Given the description of an element on the screen output the (x, y) to click on. 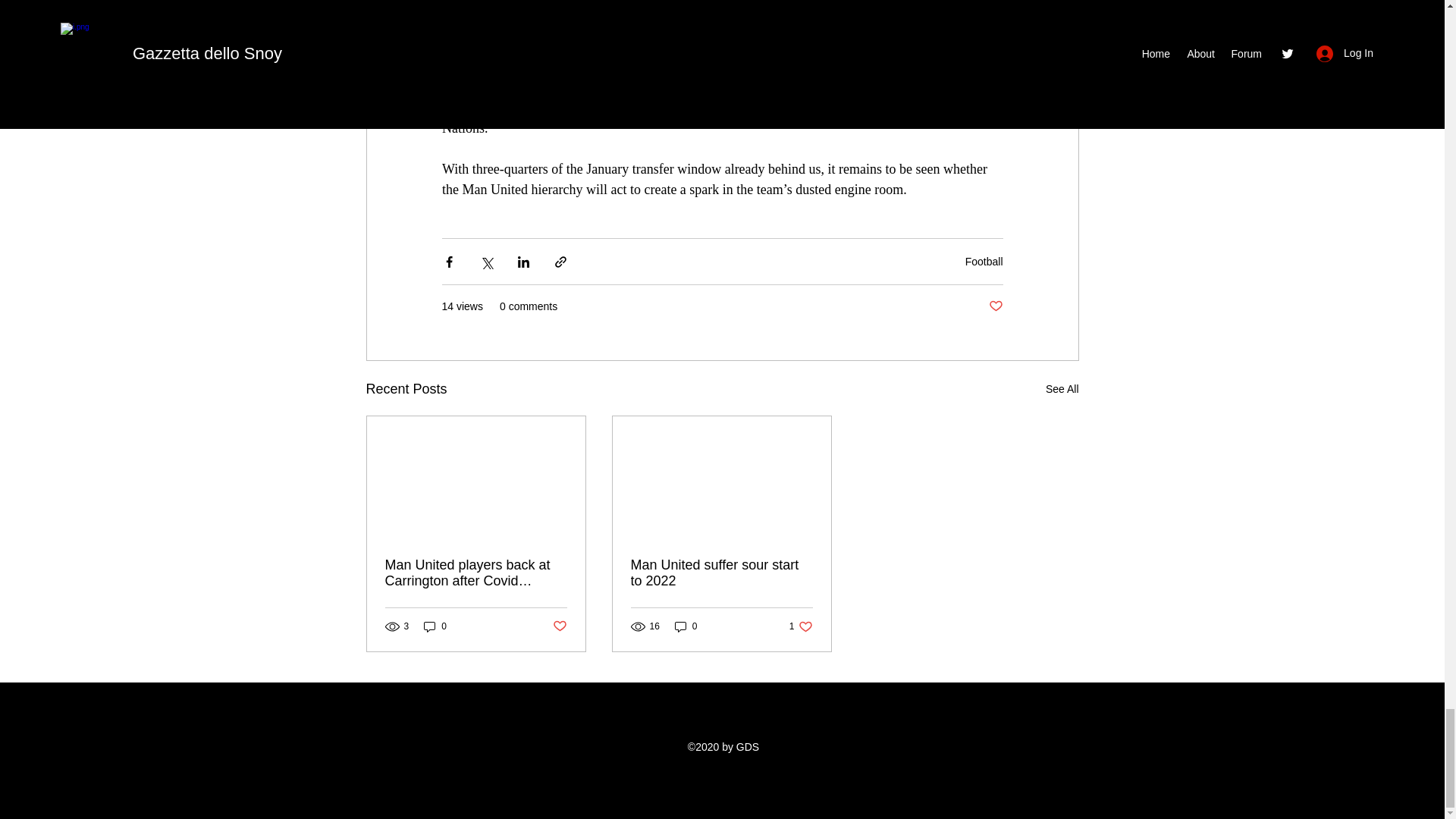
0 (435, 626)
Man United suffer sour start to 2022 (721, 572)
See All (1061, 389)
Man United players back at Carrington after Covid outbreak (476, 572)
Post not marked as liked (995, 306)
Post not marked as liked (558, 625)
0 (685, 626)
Football (984, 261)
